Given the description of an element on the screen output the (x, y) to click on. 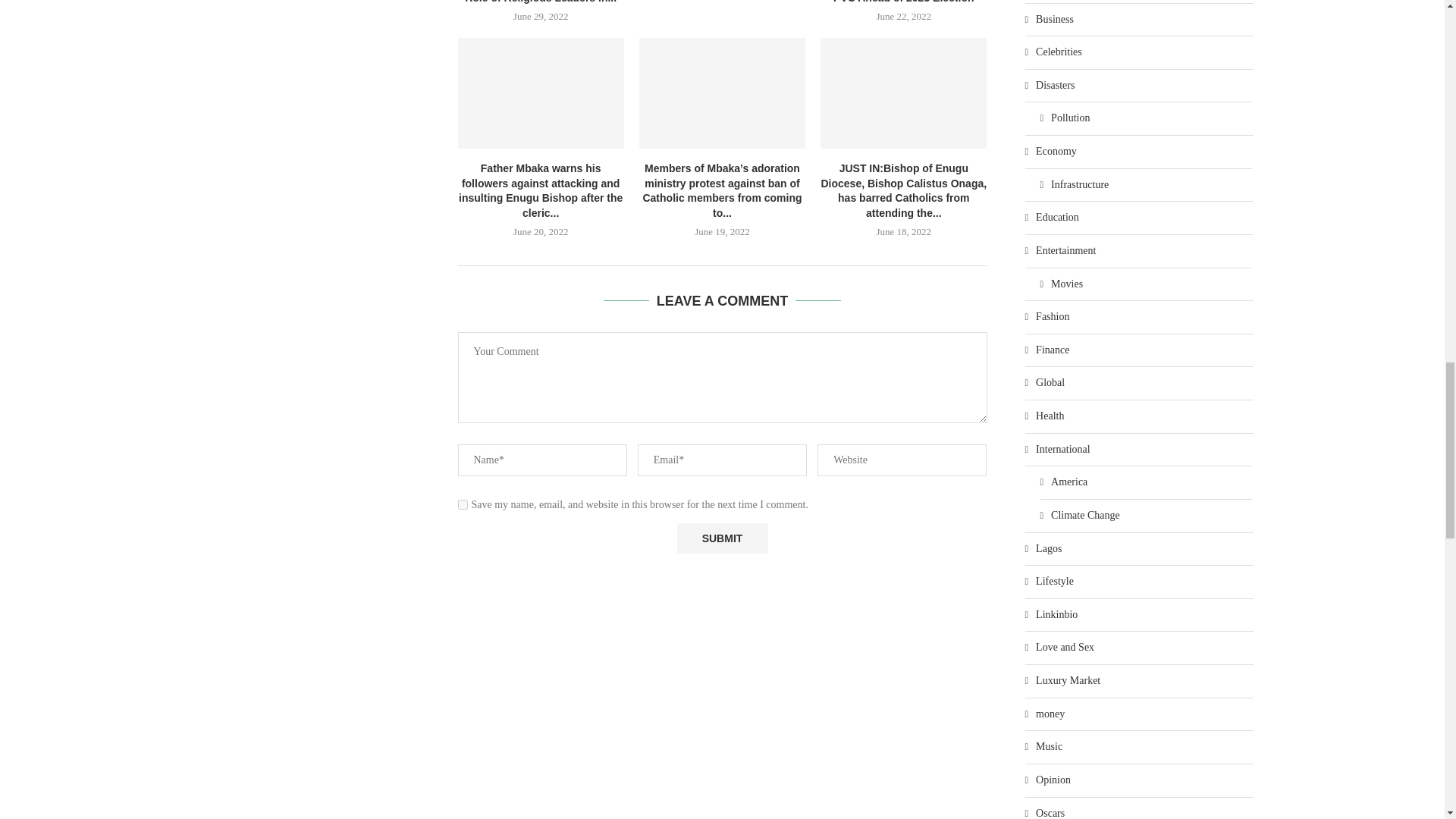
Submit (722, 538)
yes (462, 504)
